Given the description of an element on the screen output the (x, y) to click on. 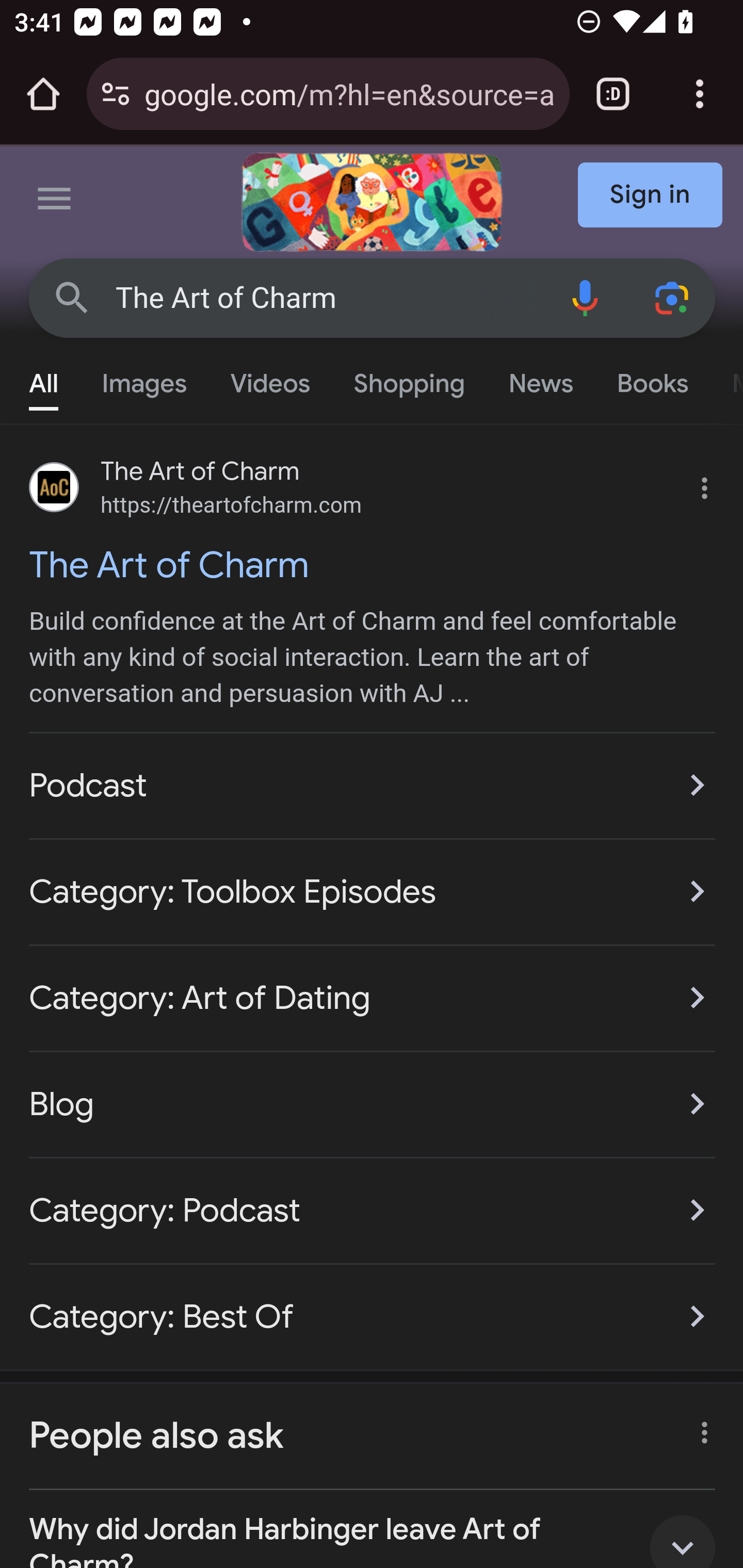
Open the home page (43, 93)
Connection is secure (115, 93)
Switch or close tabs (612, 93)
Customize and control Google Chrome (699, 93)
Main menu (54, 202)
Sign in (650, 195)
Google Search (71, 296)
Search using your camera or photos (672, 296)
The Art of Charm (328, 297)
Images (144, 378)
Videos (270, 378)
Shopping (408, 378)
News (540, 378)
Books (652, 378)
The Art of Charm (372, 564)
Podcast (372, 785)
Category: Toolbox Episodes (372, 891)
Category: Art of Dating (372, 997)
Blog (372, 1103)
Category: Podcast (372, 1210)
Category: Best Of (372, 1305)
About this result (698, 1426)
Why did Jordan Harbinger leave Art of Charm? (372, 1528)
